Given the description of an element on the screen output the (x, y) to click on. 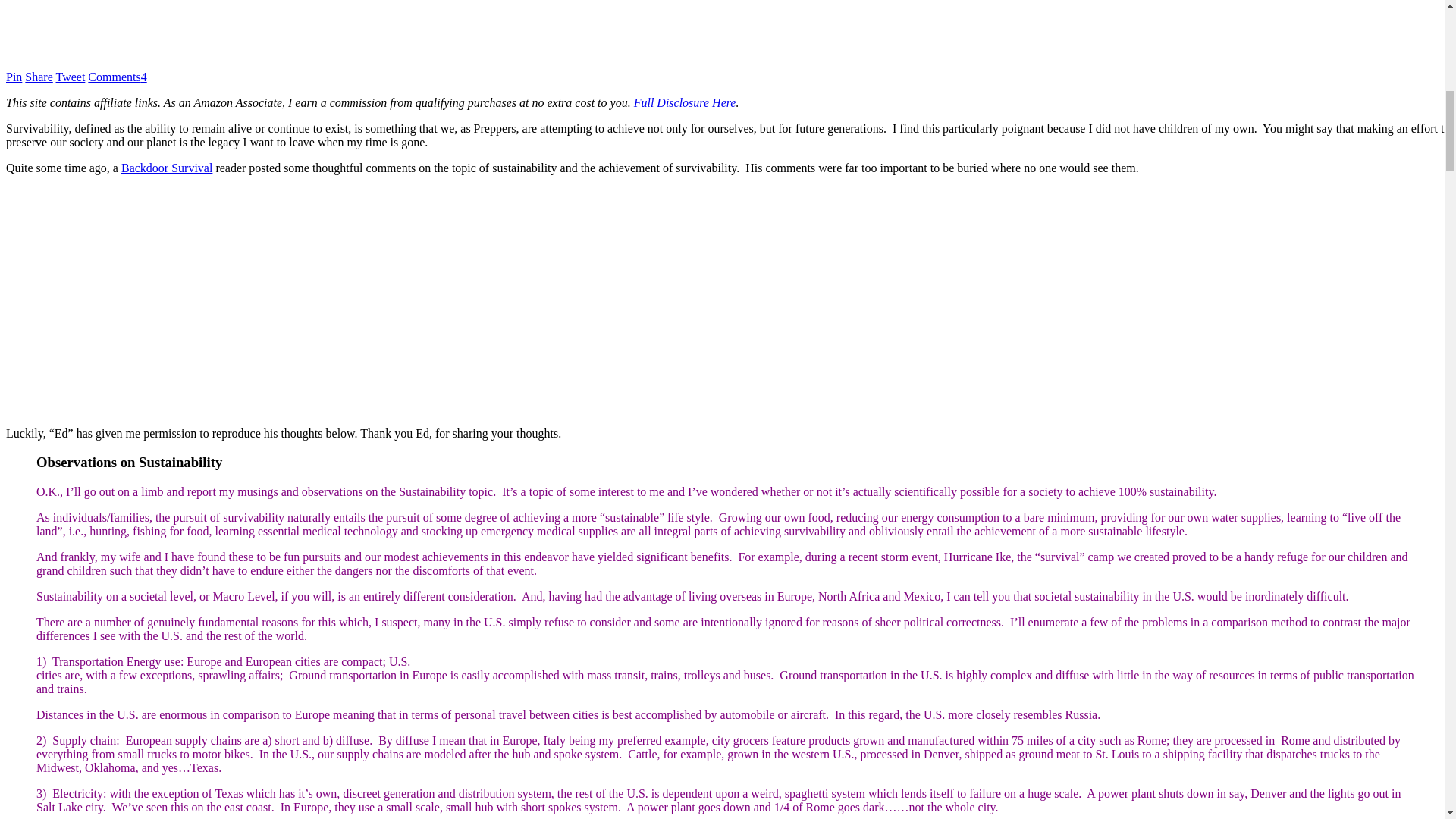
Backdoor Survival (166, 167)
Article Comments (117, 76)
Sustainability and the Achievement of Survivability (727, 300)
Share on Twitter (70, 76)
Comments4 (117, 76)
Tweet (70, 76)
Pin on Pinterest (13, 76)
Full Disclosure Here (684, 102)
Share (38, 76)
Share on Facebook (38, 76)
